Given the description of an element on the screen output the (x, y) to click on. 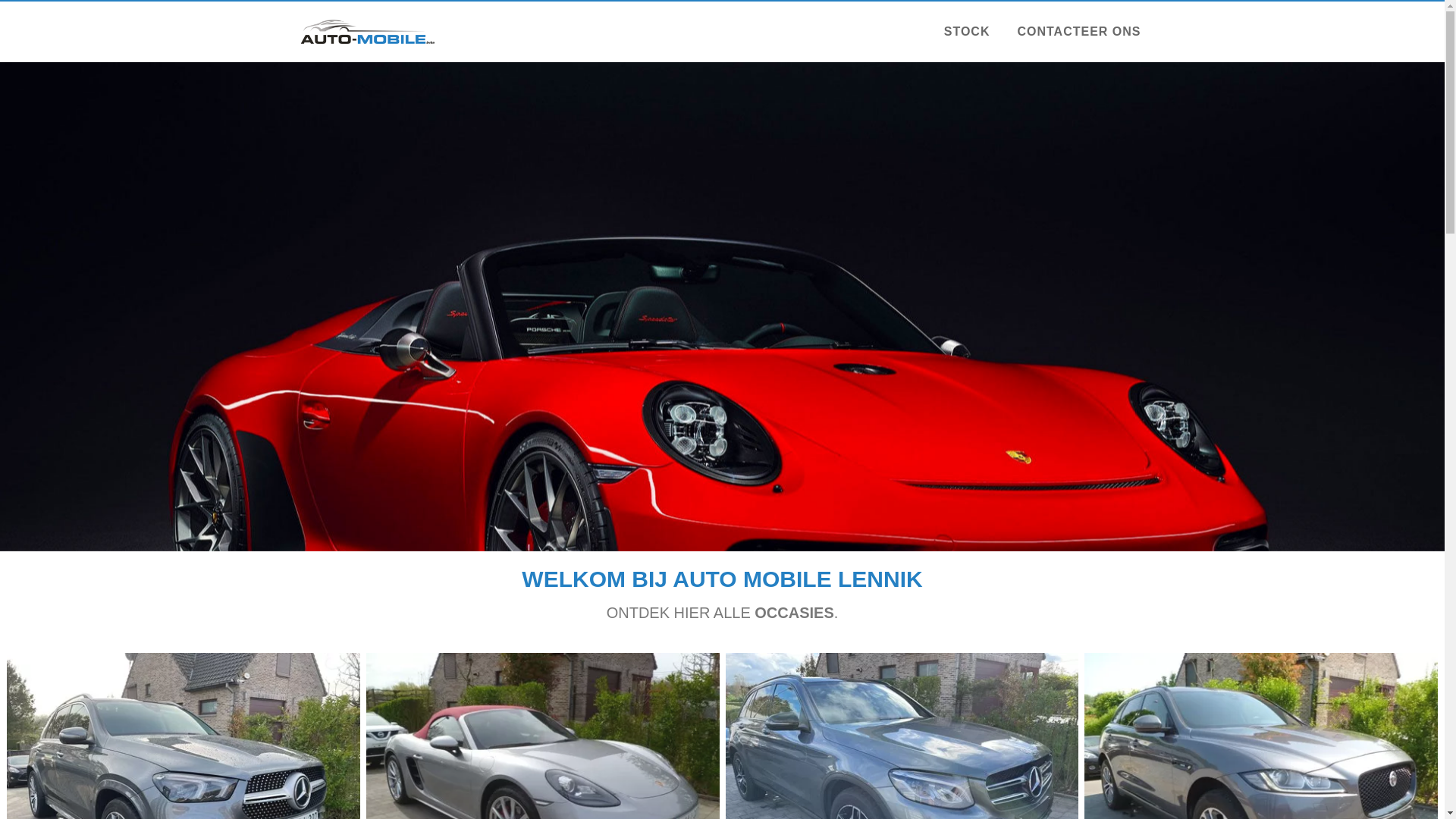
STOCK Element type: text (967, 31)
CONTACTEER ONS Element type: text (1078, 31)
